Given the description of an element on the screen output the (x, y) to click on. 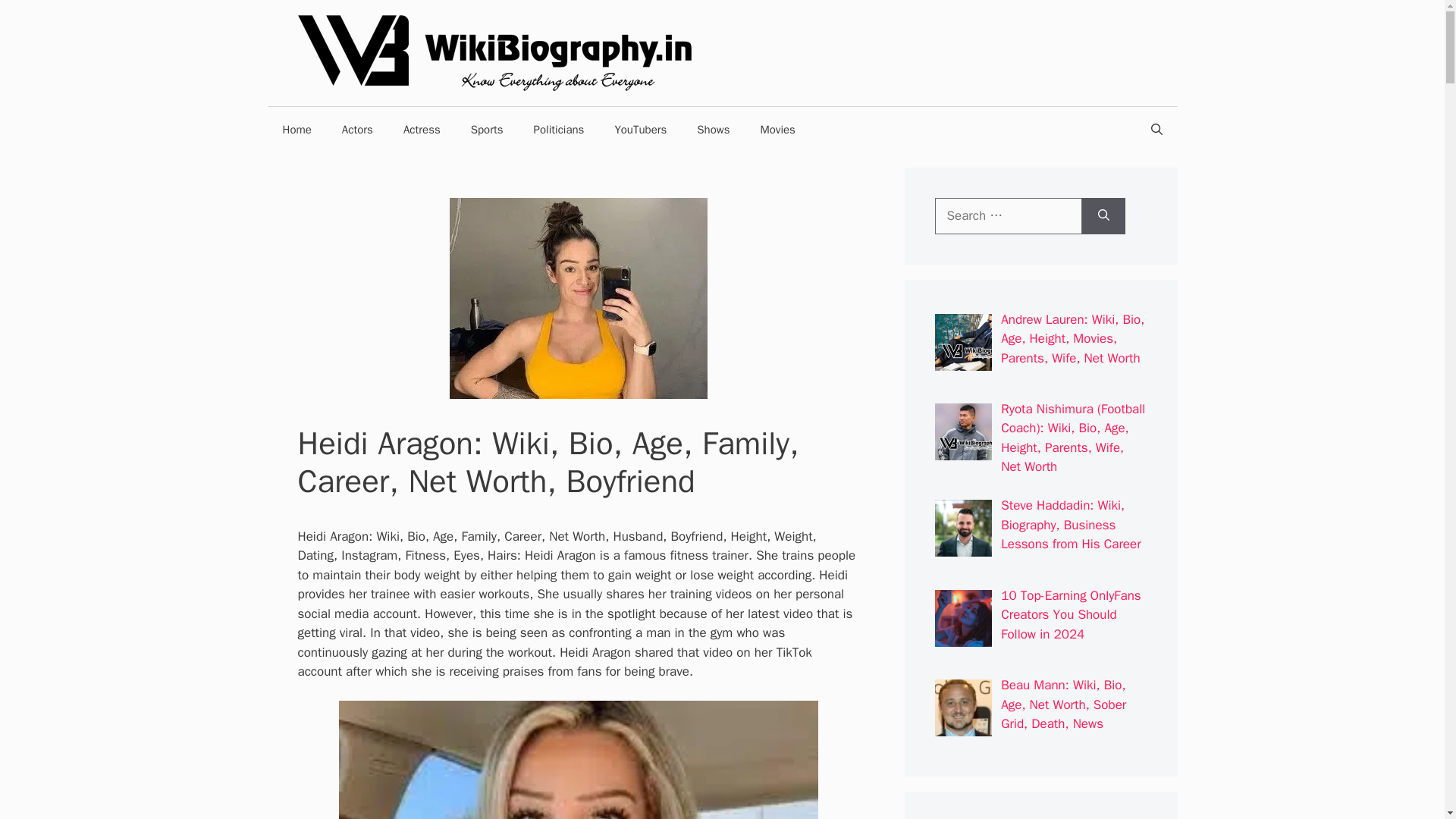
Actress (421, 129)
YouTubers (639, 129)
Sports (486, 129)
Home (296, 129)
Shows (712, 129)
Actors (357, 129)
Search for: (1007, 216)
Movies (776, 129)
Politicians (558, 129)
